Given the description of an element on the screen output the (x, y) to click on. 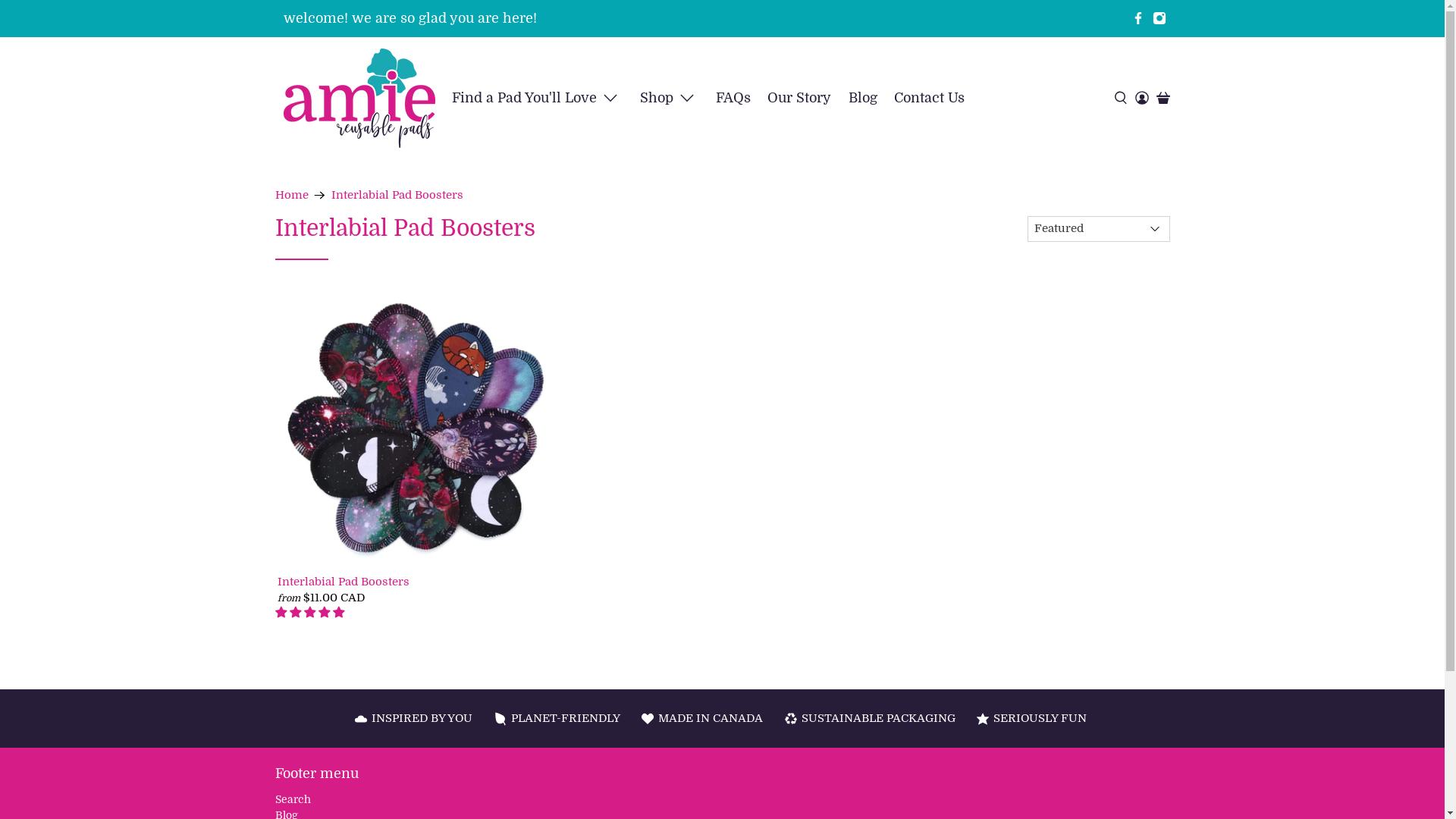
Amie Pads on Facebook Element type: hover (1138, 18)
Blog Element type: text (863, 97)
Shop Element type: text (668, 97)
Home Element type: text (290, 194)
Contact Us Element type: text (929, 97)
Find a Pad You'll Love Element type: text (536, 97)
Interlabial Pad Boosters Element type: text (419, 580)
Our Story Element type: text (799, 97)
Interlabial Pad Boosters Element type: text (396, 194)
Amie Pads on Instagram Element type: hover (1159, 18)
Amie Pads Element type: hover (359, 97)
FAQs Element type: text (732, 97)
Search Element type: text (292, 799)
